Given the description of an element on the screen output the (x, y) to click on. 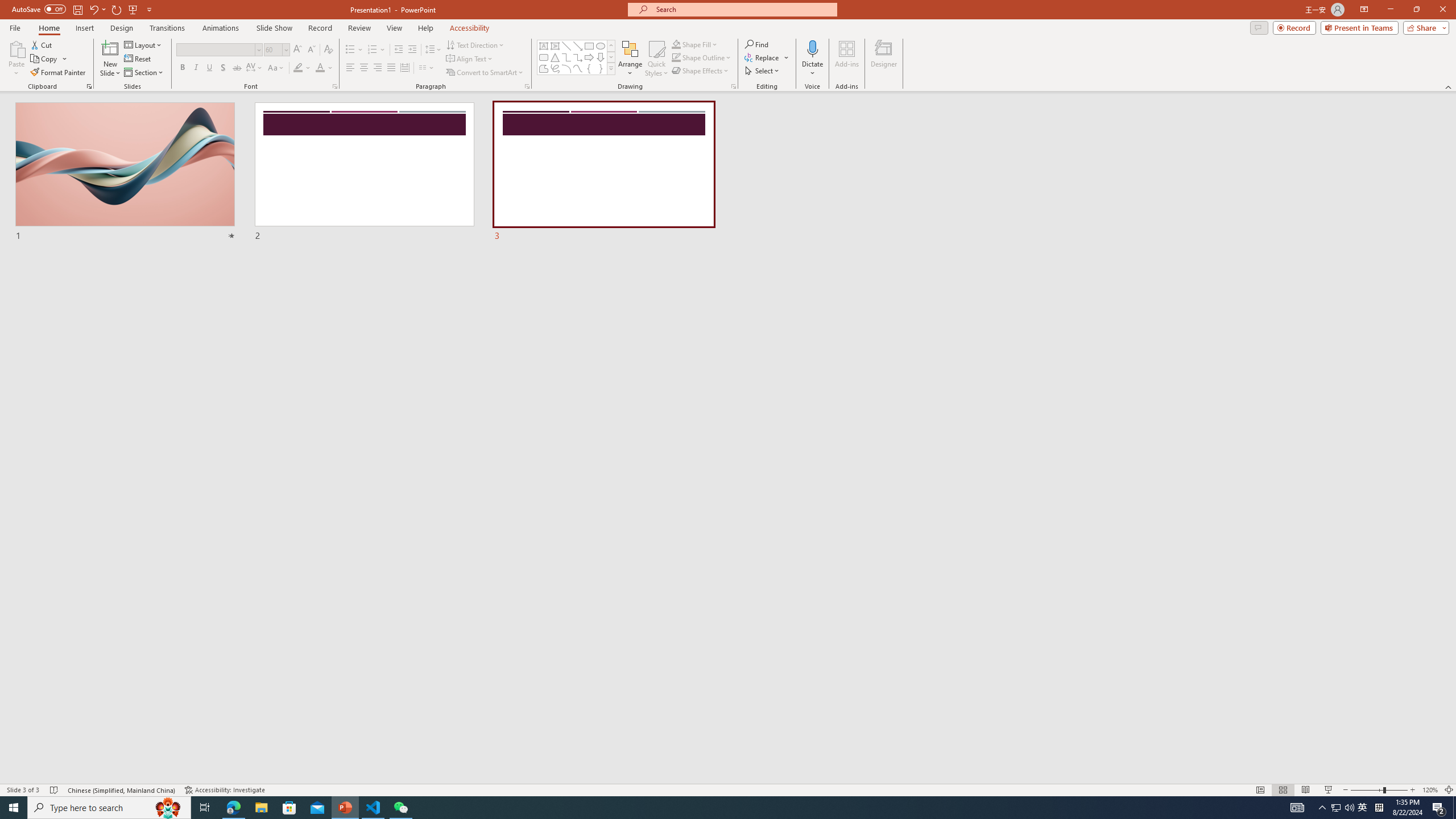
Align Right (377, 67)
Align Text (470, 58)
Shape Fill Orange, Accent 2 (675, 44)
Section (144, 72)
Paragraph... (526, 85)
Shape Outline Blue, Accent 1 (675, 56)
